Given the description of an element on the screen output the (x, y) to click on. 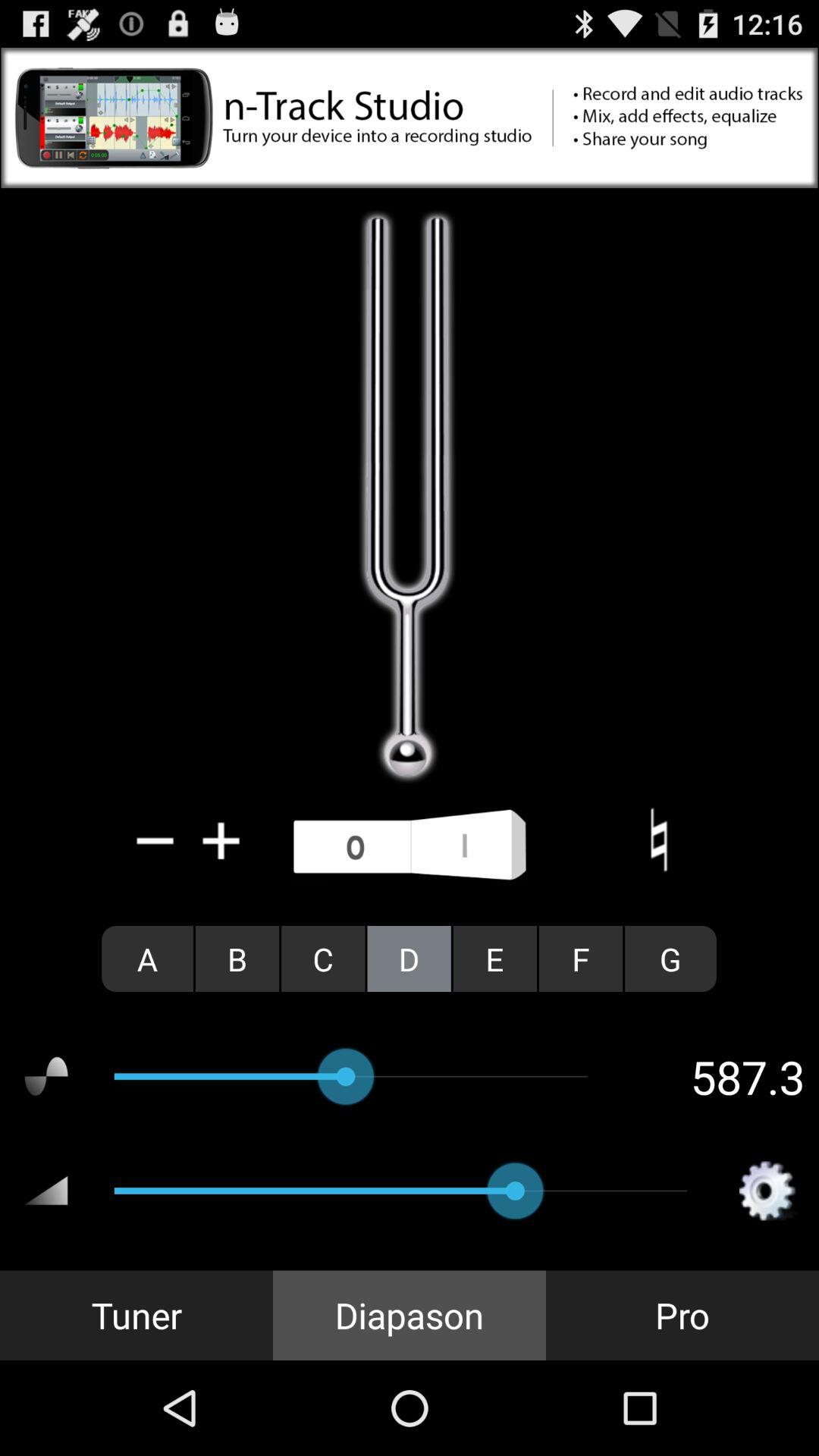
select item to the right of the d (494, 958)
